Given the description of an element on the screen output the (x, y) to click on. 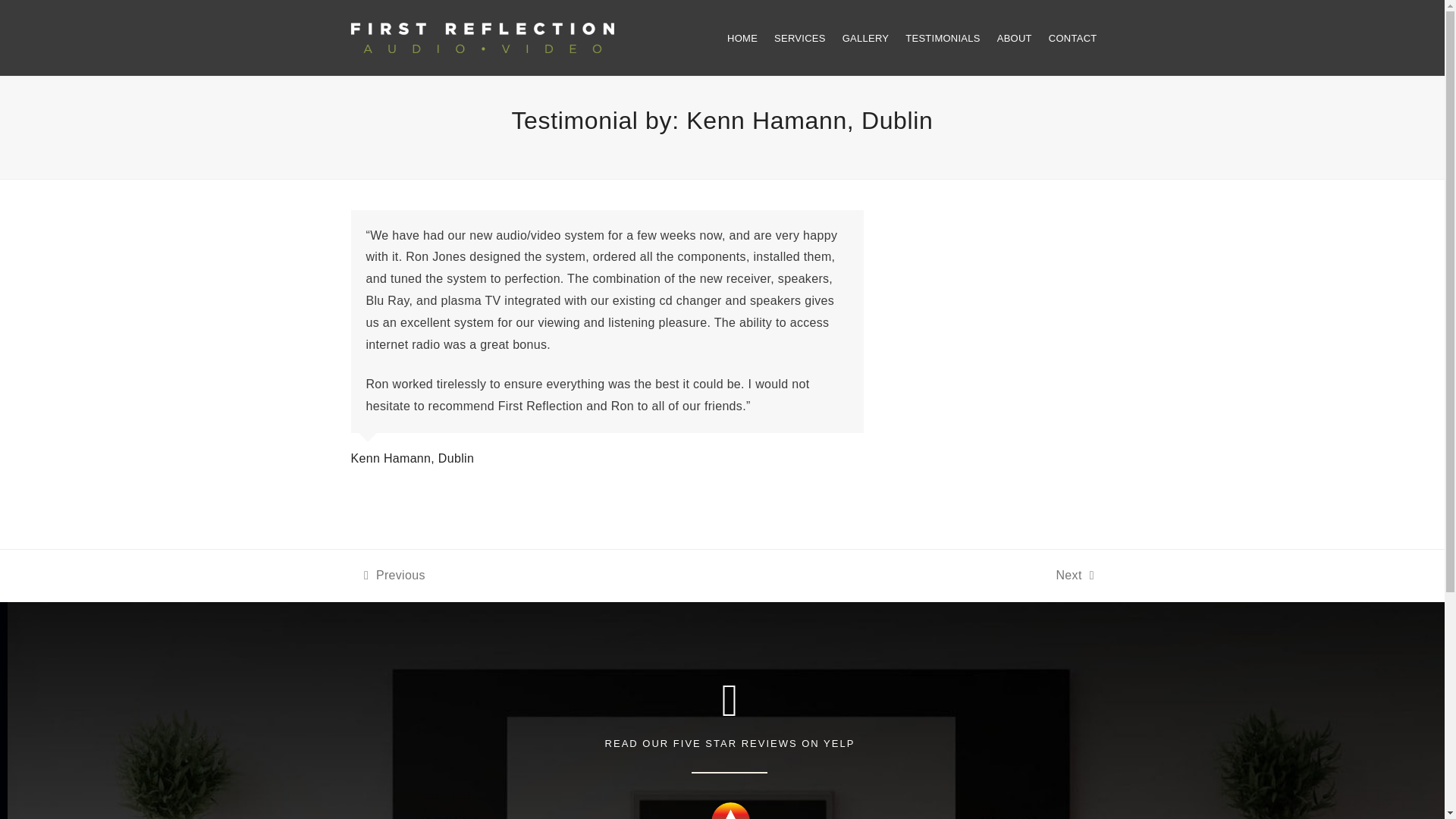
First Reflection Audio Video Logo Color Reversed (394, 576)
SERVICES (729, 810)
TESTIMONIALS (799, 38)
READ OUR FIVE STAR REVIEWS ON YELP (942, 38)
